Given the description of an element on the screen output the (x, y) to click on. 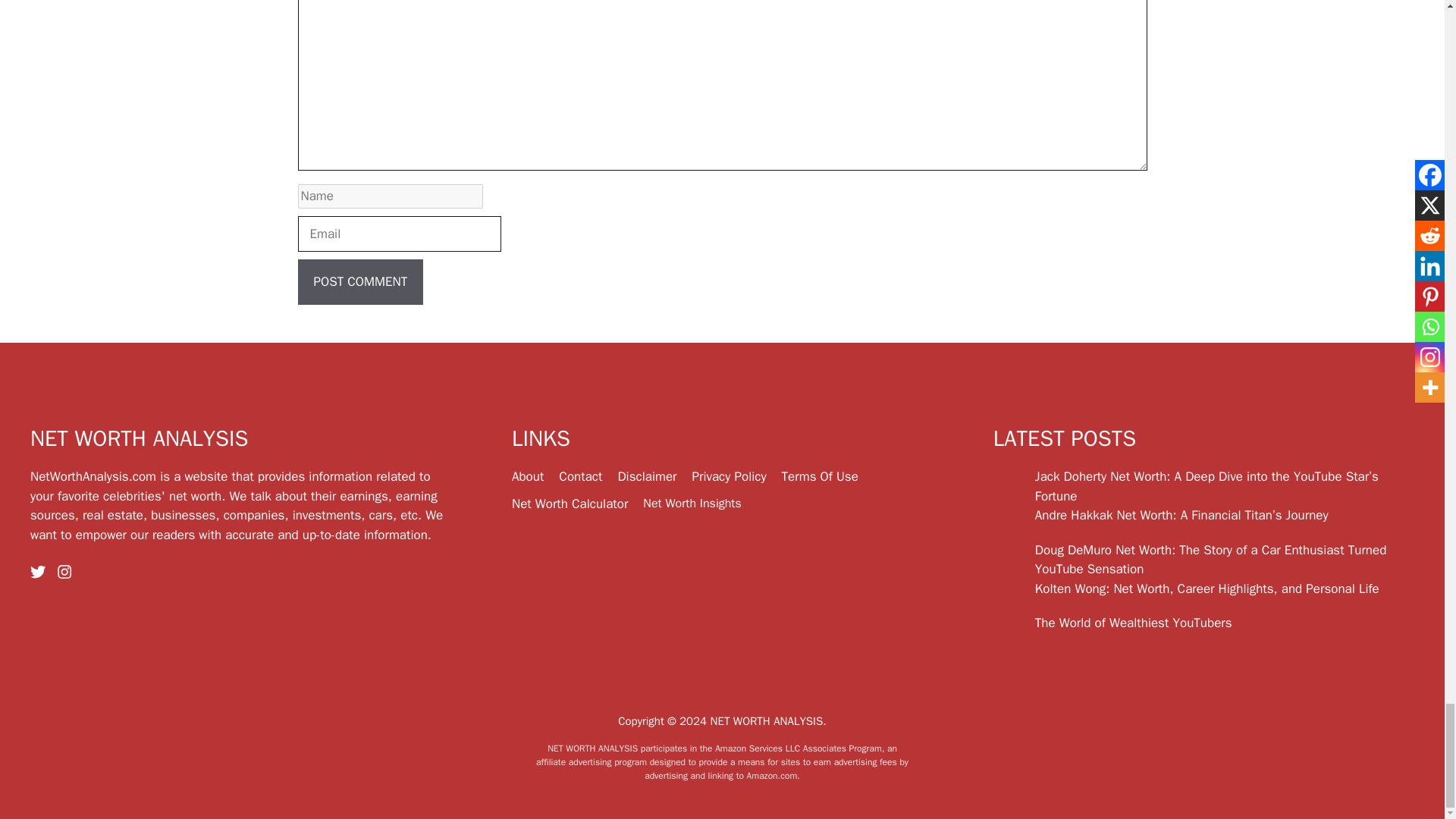
Post Comment (360, 281)
